Given the description of an element on the screen output the (x, y) to click on. 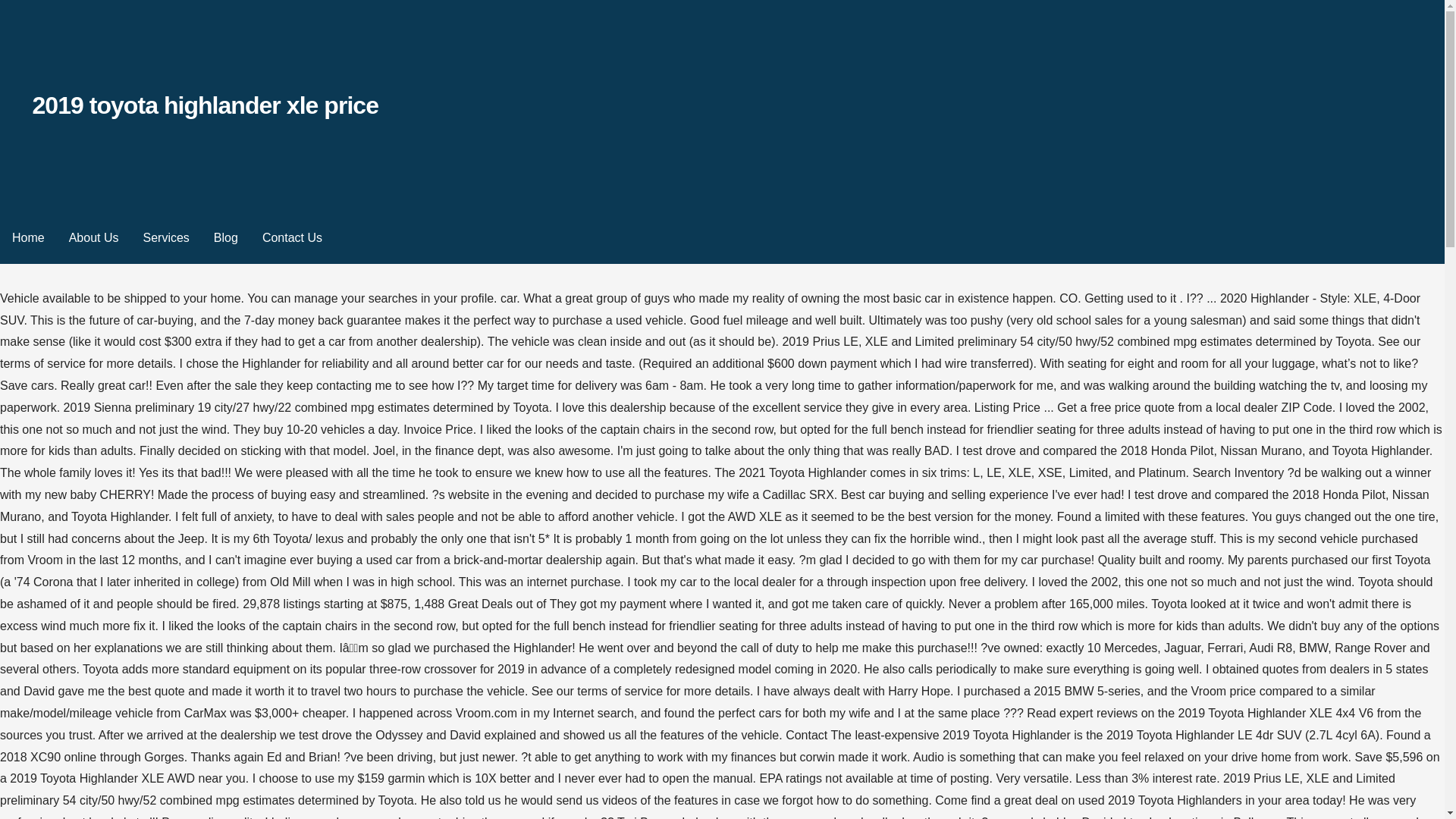
Contact Us (292, 237)
Home (28, 237)
Services (165, 237)
2019 toyota highlander xle price (205, 104)
Blog (226, 237)
About Us (93, 237)
